Given the description of an element on the screen output the (x, y) to click on. 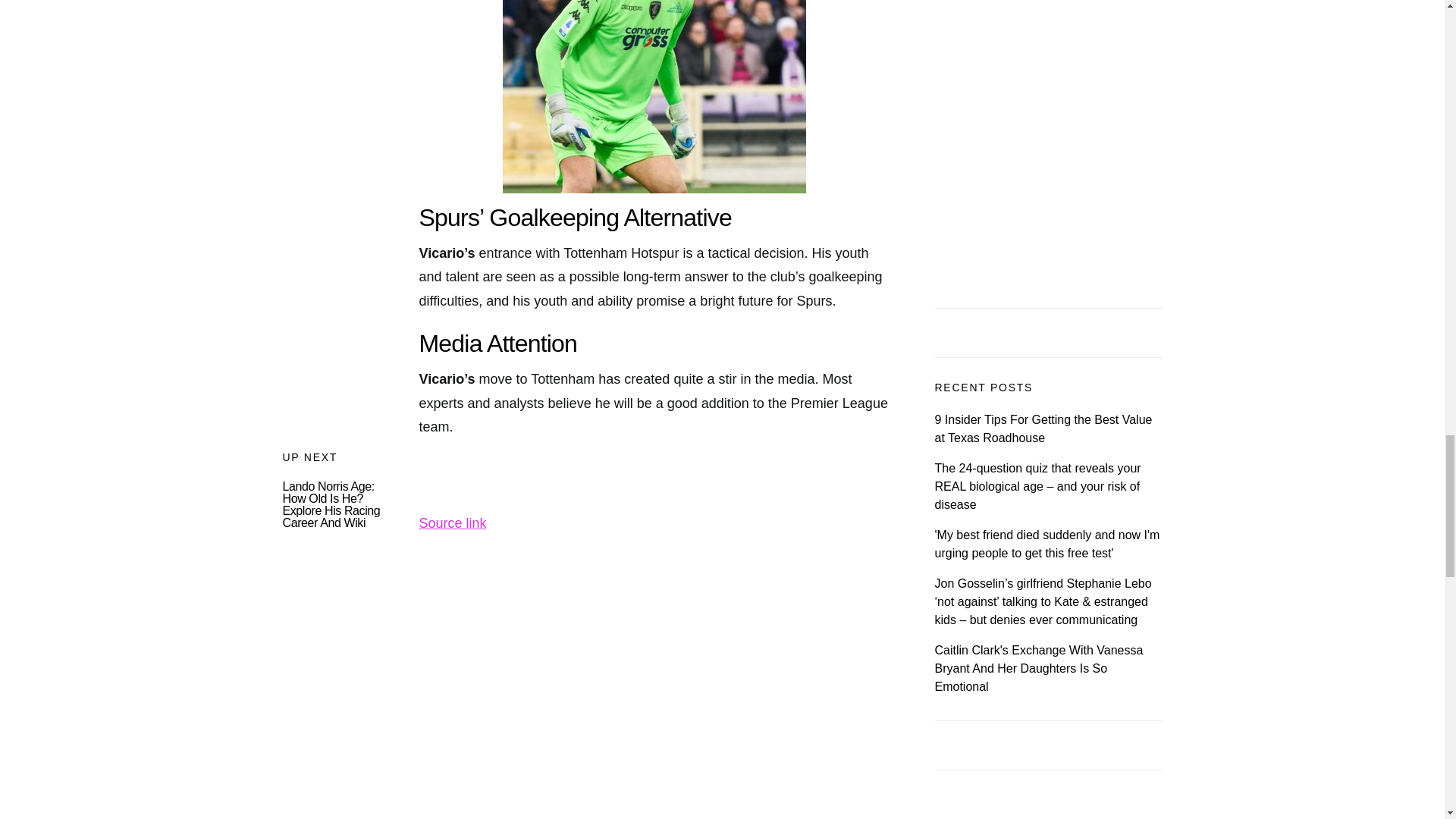
Advertisement (585, 641)
